Given the description of an element on the screen output the (x, y) to click on. 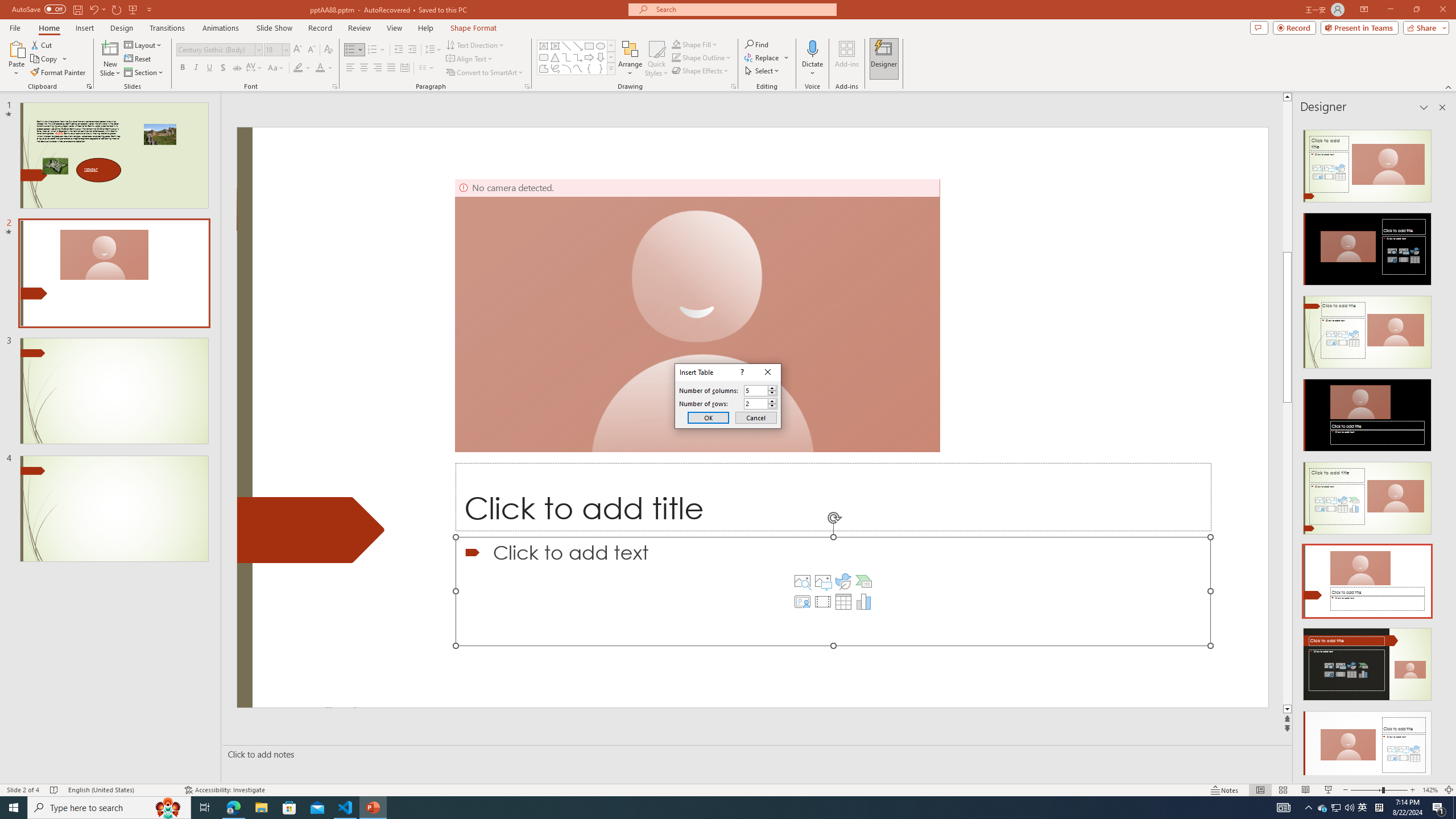
Shape Fill Aqua, Accent 2 (675, 44)
